Given the description of an element on the screen output the (x, y) to click on. 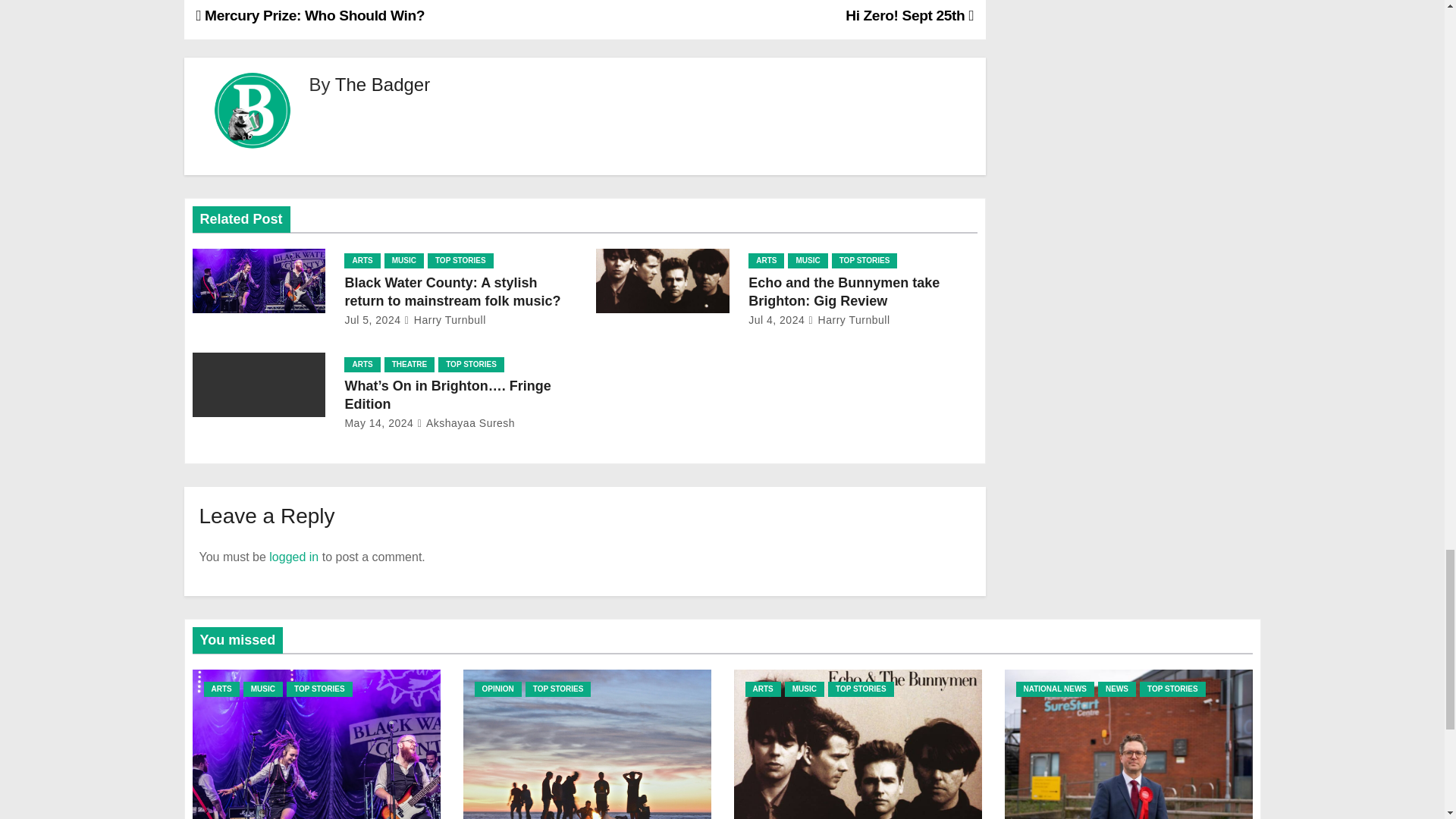
Hi Zero! Sept 25th (909, 15)
